Given the description of an element on the screen output the (x, y) to click on. 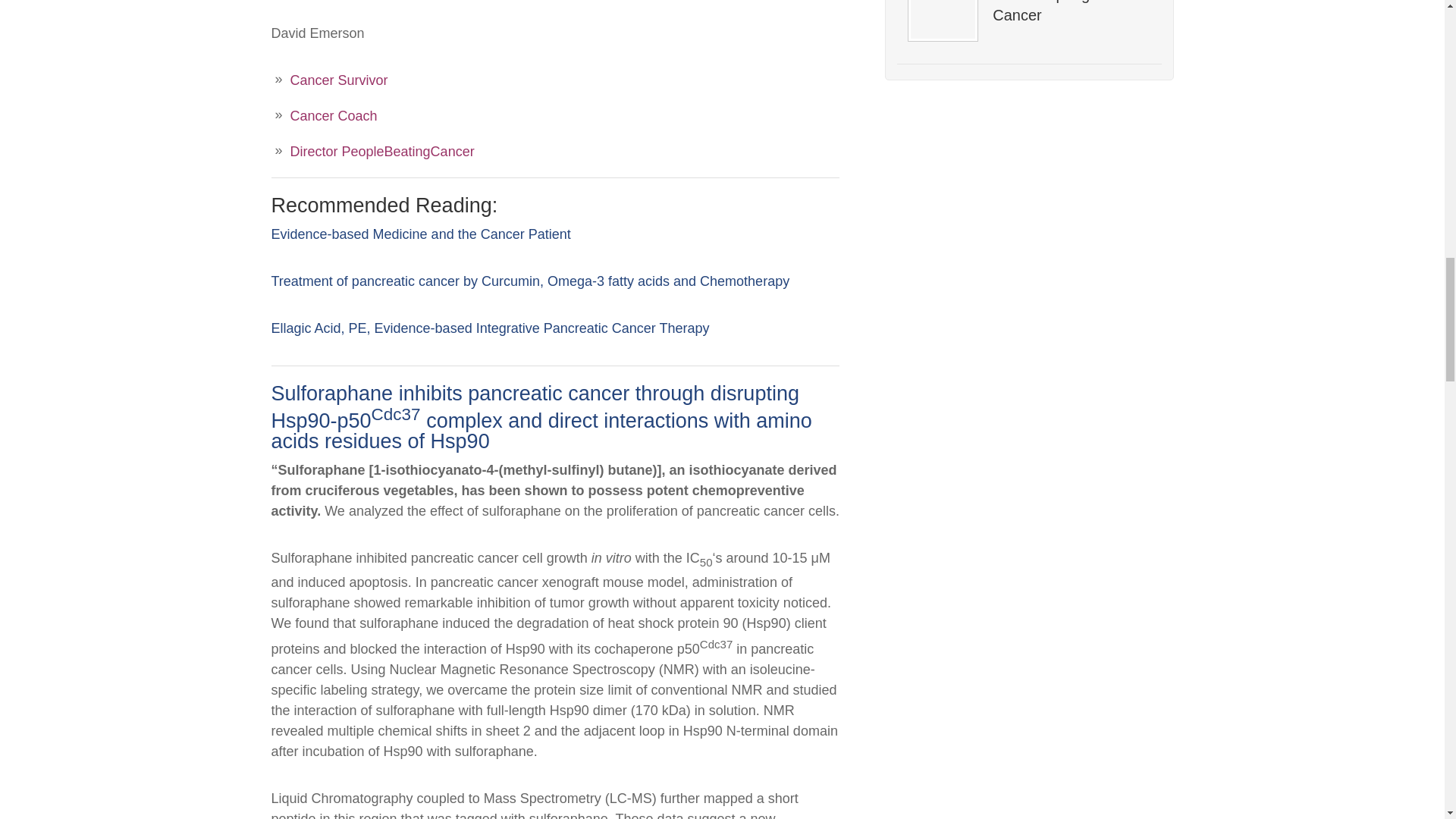
Black Raspberries Slow Esophageal Cancer (1071, 12)
